Given the description of an element on the screen output the (x, y) to click on. 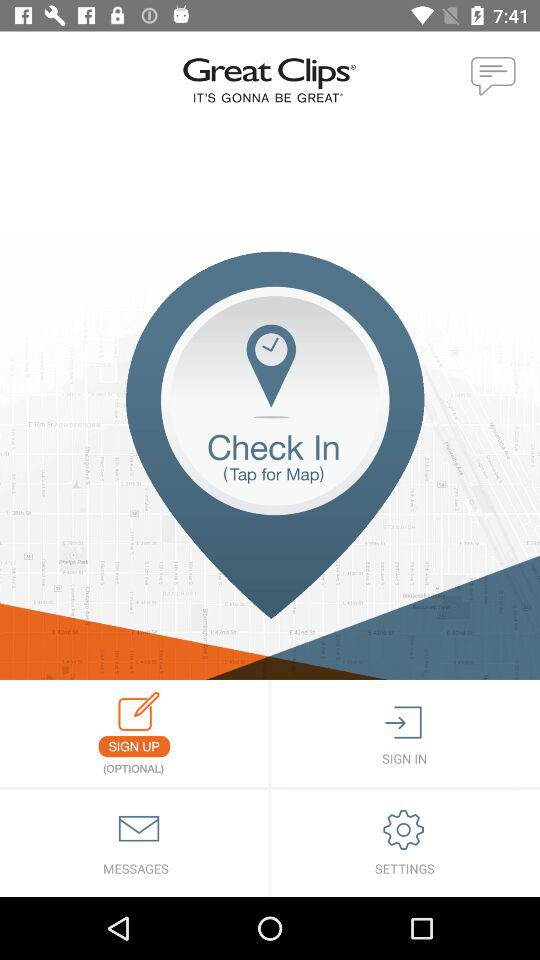
turn on icon at the top right corner (494, 77)
